Given the description of an element on the screen output the (x, y) to click on. 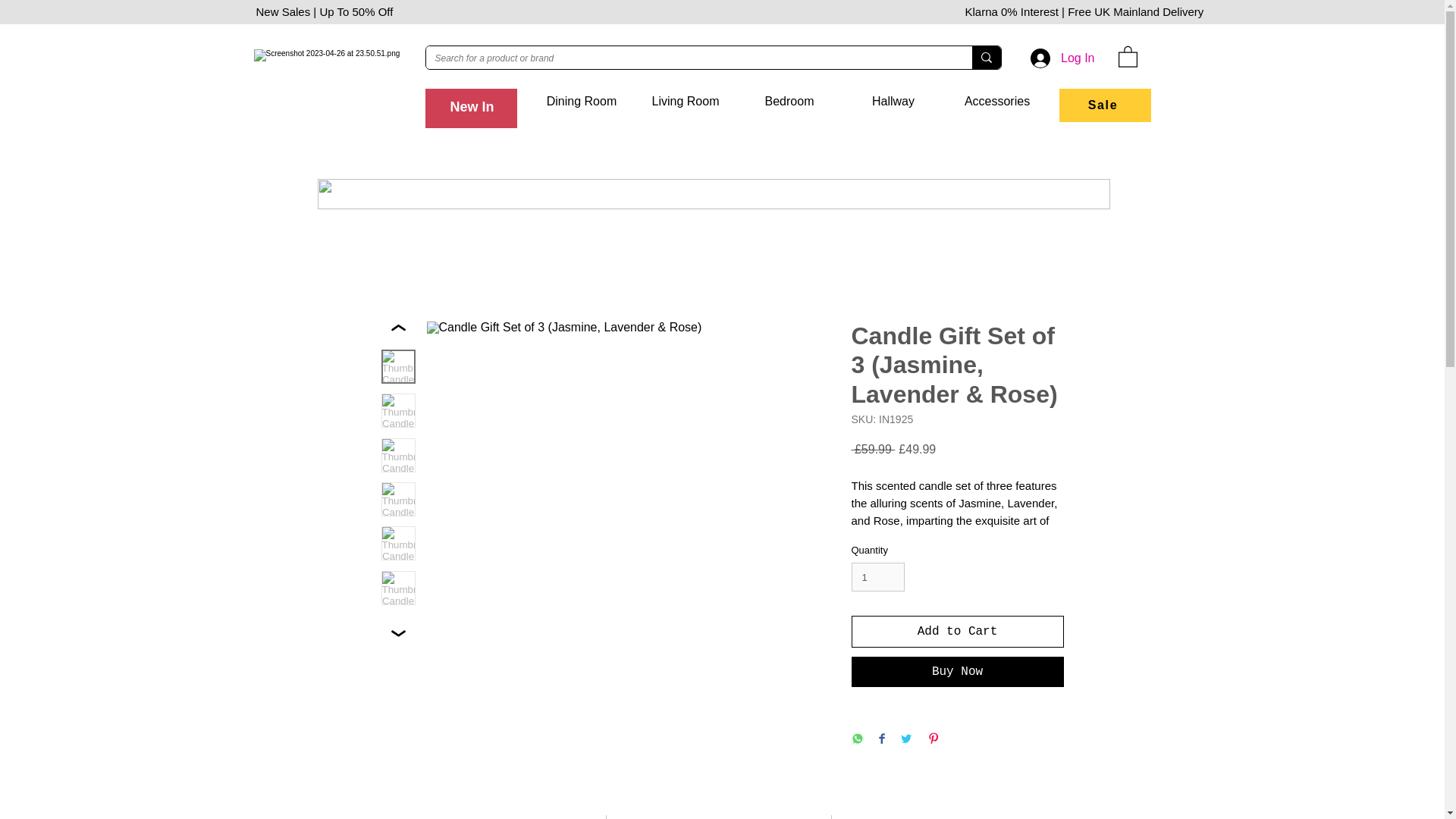
1 (877, 576)
Bedroom (788, 100)
Living Room (685, 100)
Accessories (996, 100)
Hallway (892, 100)
Dining Room (581, 100)
Log In (1062, 58)
Home (477, 100)
Sale (1101, 100)
Sale (1103, 105)
